Given the description of an element on the screen output the (x, y) to click on. 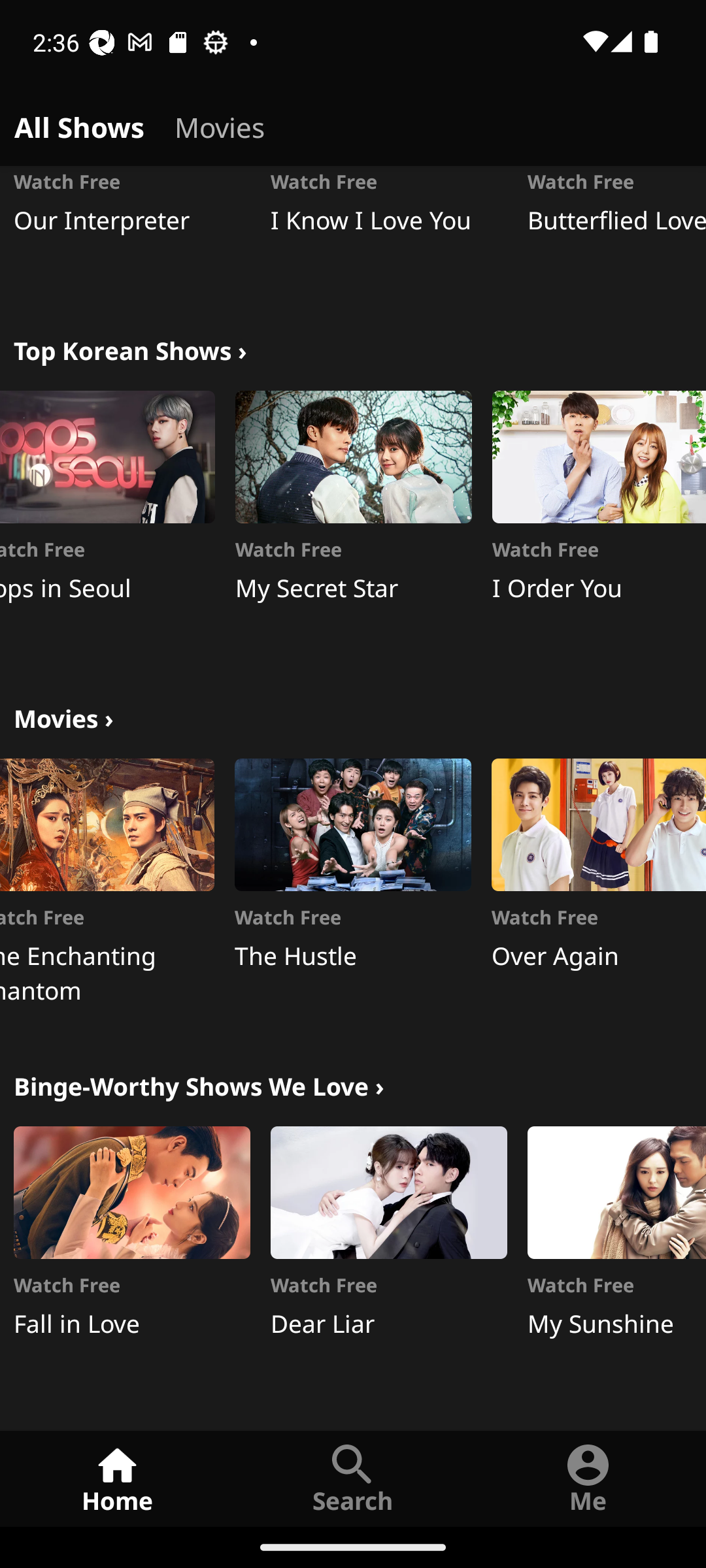
home_tab_movies Movies (219, 124)
resource_cell Watch Free Our Interpreter (131, 232)
resource_cell Watch Free I Know I Love You (388, 232)
resource_cell Watch Free Butterflied Lover (616, 232)
Top Korean Shows › korean_trending (130, 348)
Movies › movies_new (63, 715)
Binge-Worthy Shows We Love › 2652995l_collection (198, 1084)
Search (352, 1478)
Me (588, 1478)
